Given the description of an element on the screen output the (x, y) to click on. 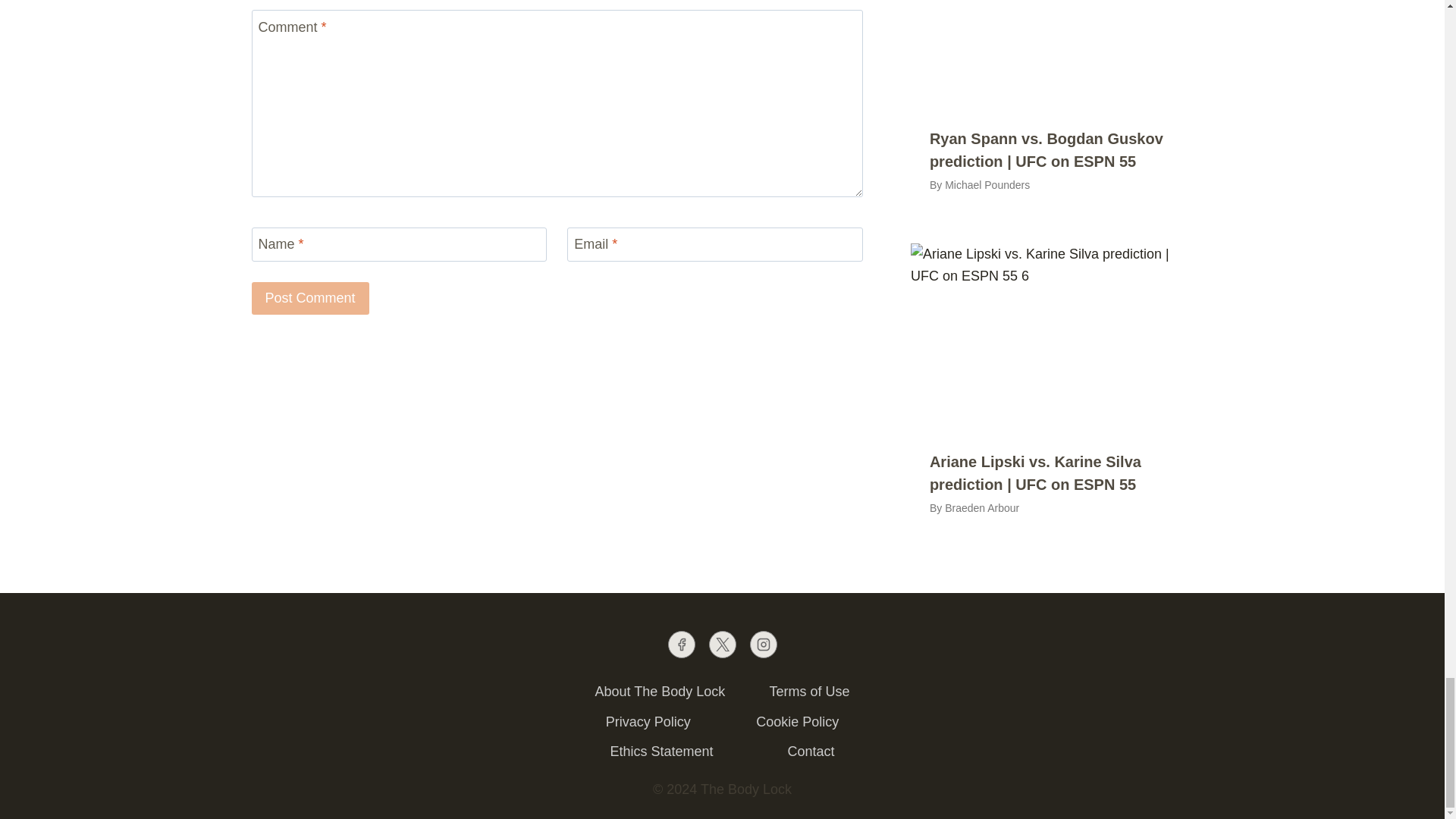
Post Comment (310, 297)
Post Comment (310, 297)
